Given the description of an element on the screen output the (x, y) to click on. 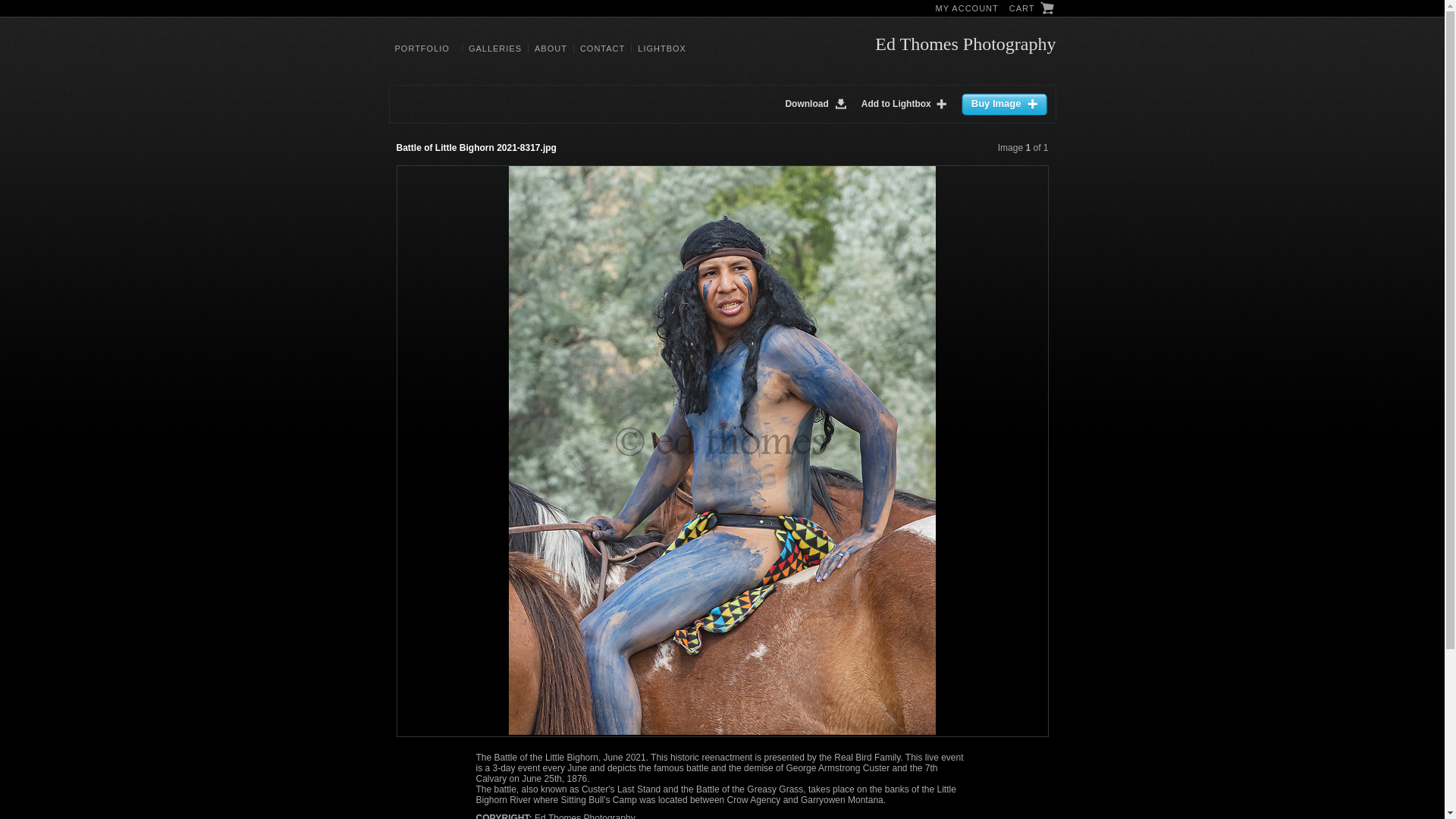
Add to Lightbox (907, 104)
Ed Thomes Photography (965, 44)
LIGHTBOX (661, 48)
GALLERIES (494, 48)
ABOUT (550, 48)
Add to Cart (1004, 104)
PORTFOLIO (425, 48)
Download (818, 104)
CONTACT (602, 48)
Cart (1031, 8)
MY ACCOUNT (967, 8)
CART (1031, 8)
Buy Image (1004, 104)
